Given the description of an element on the screen output the (x, y) to click on. 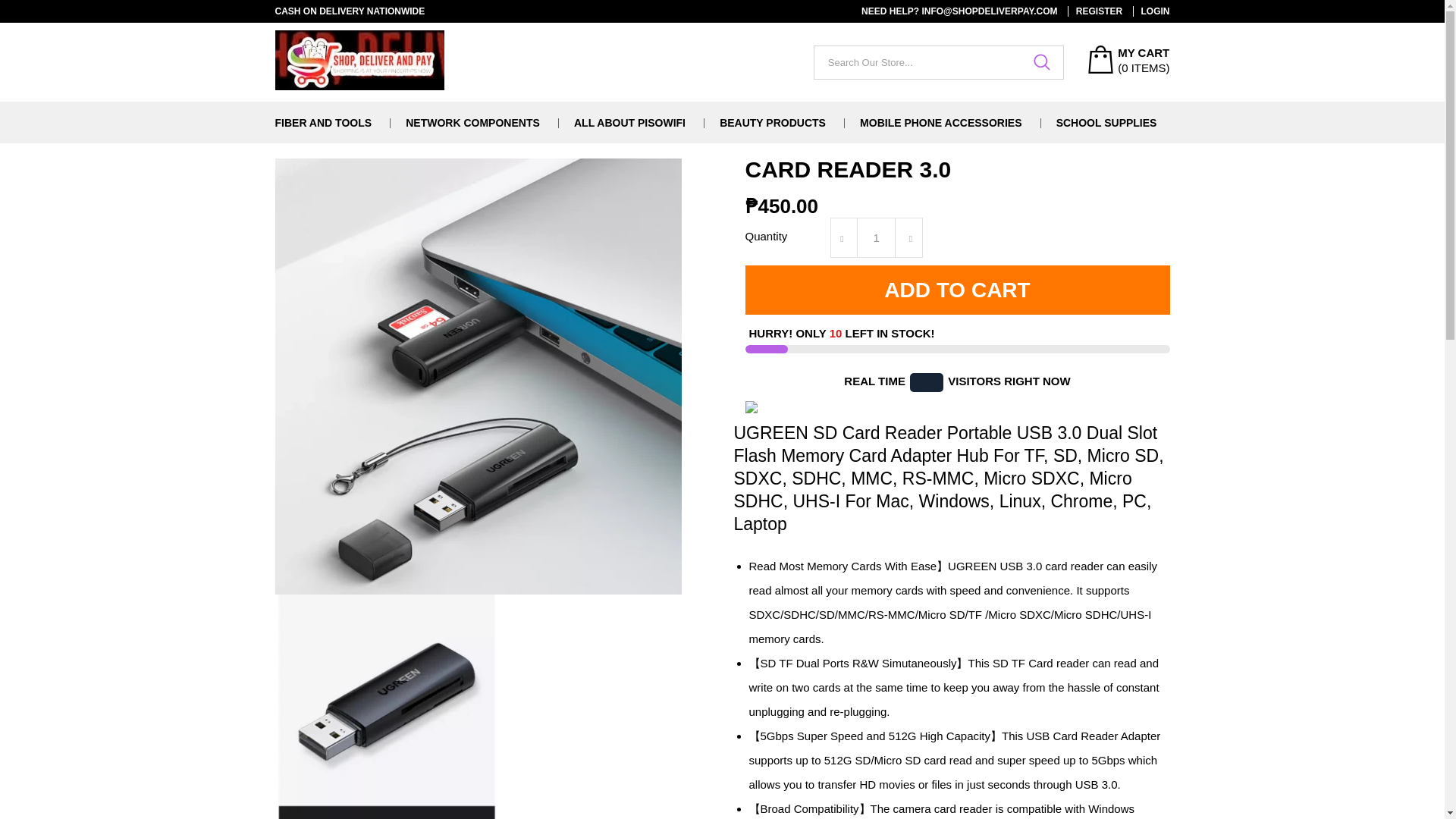
FIBER AND TOOLS (323, 122)
1 (876, 237)
ALL ABOUT PISOWIFI (629, 122)
LOGIN (1151, 10)
REGISTER (1094, 10)
NETWORK COMPONENTS (473, 122)
